Given the description of an element on the screen output the (x, y) to click on. 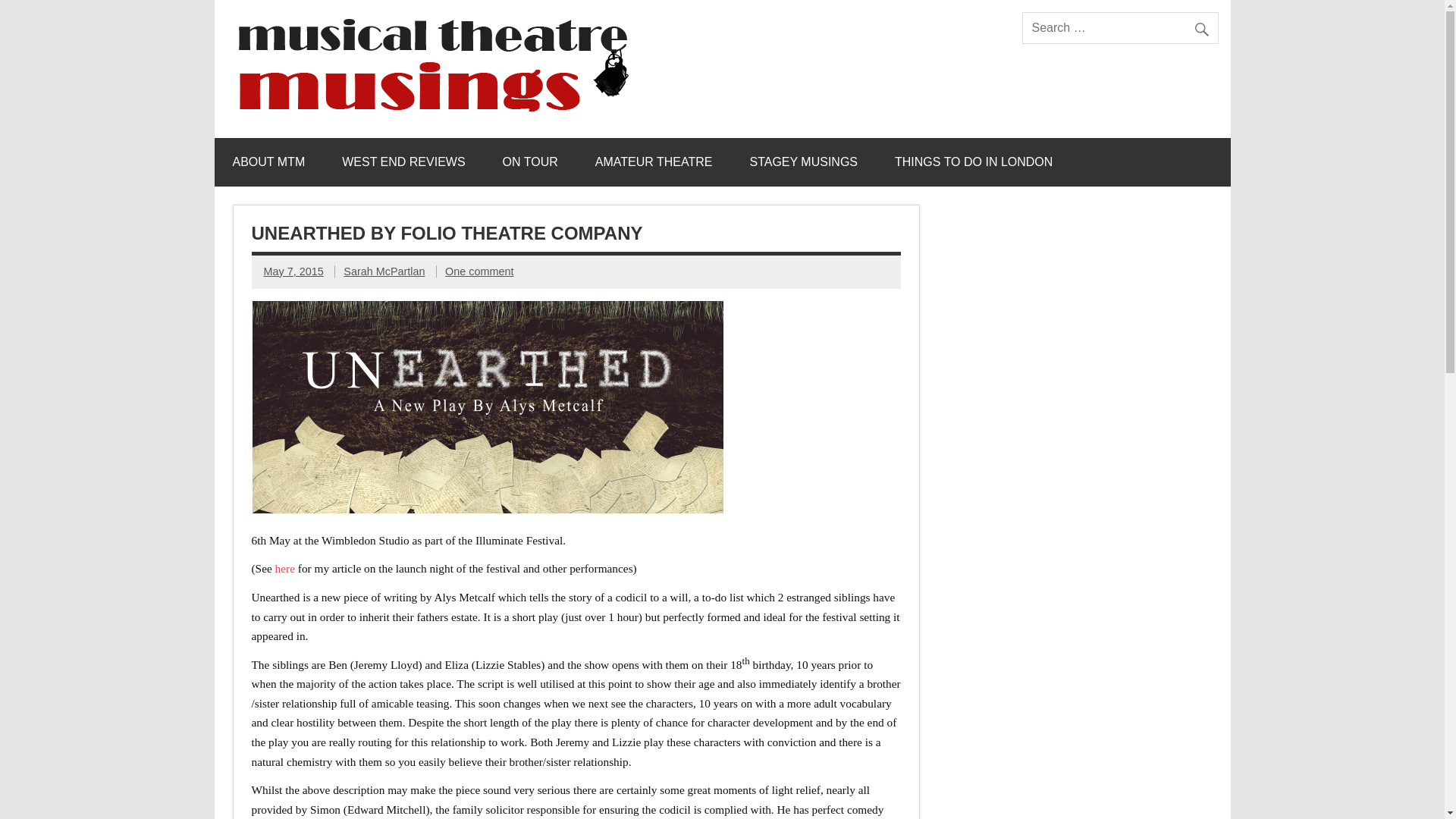
11:57 am (293, 271)
View all posts by Sarah McPartlan (384, 271)
ABOUT MTM (268, 162)
About Musical Theatre Musings (268, 162)
WEST END REVIEWS (403, 162)
Wimbledon Gets a Fringe Feel (286, 567)
ON TOUR (530, 162)
